Given the description of an element on the screen output the (x, y) to click on. 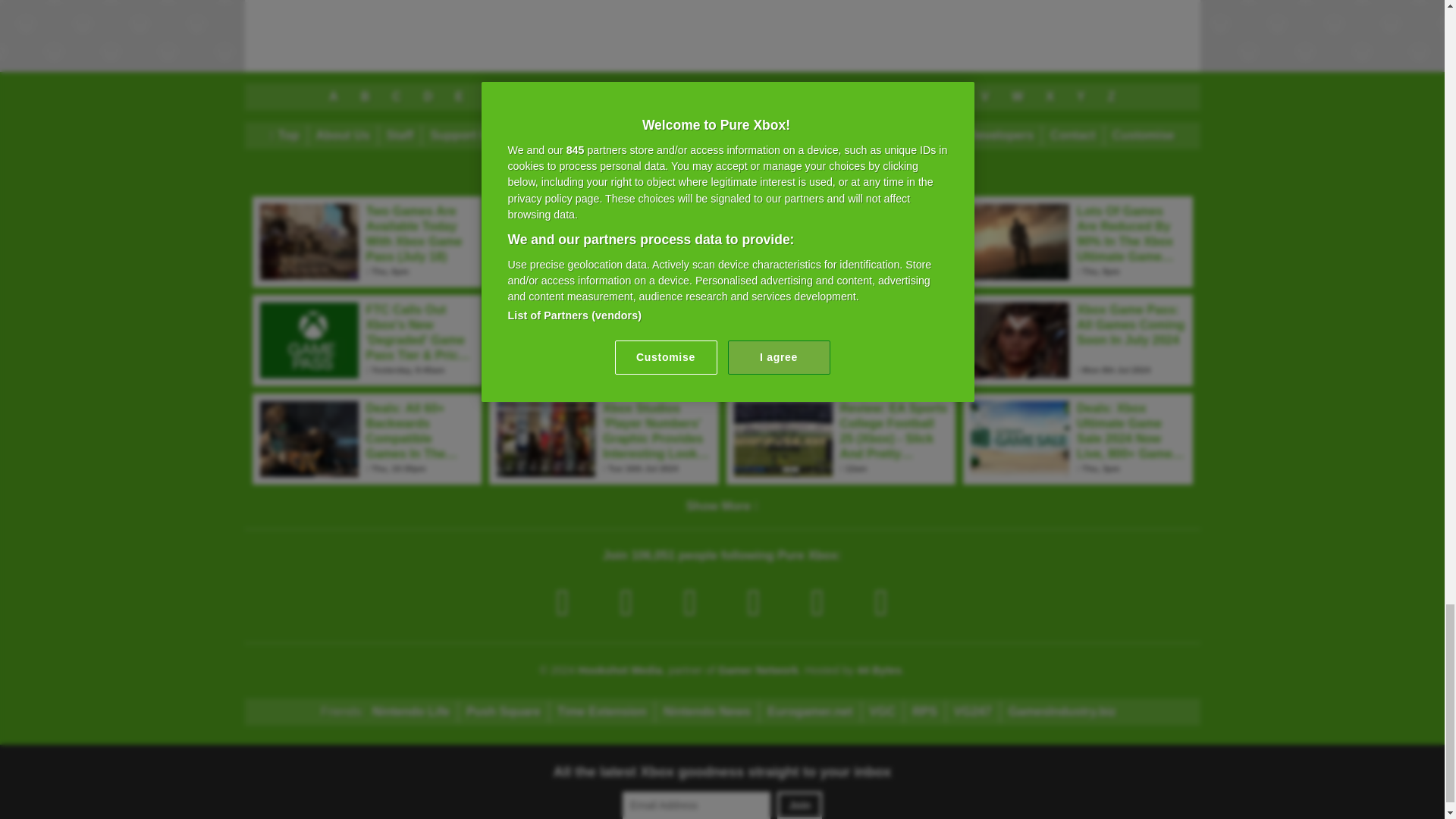
Join (799, 805)
